Given the description of an element on the screen output the (x, y) to click on. 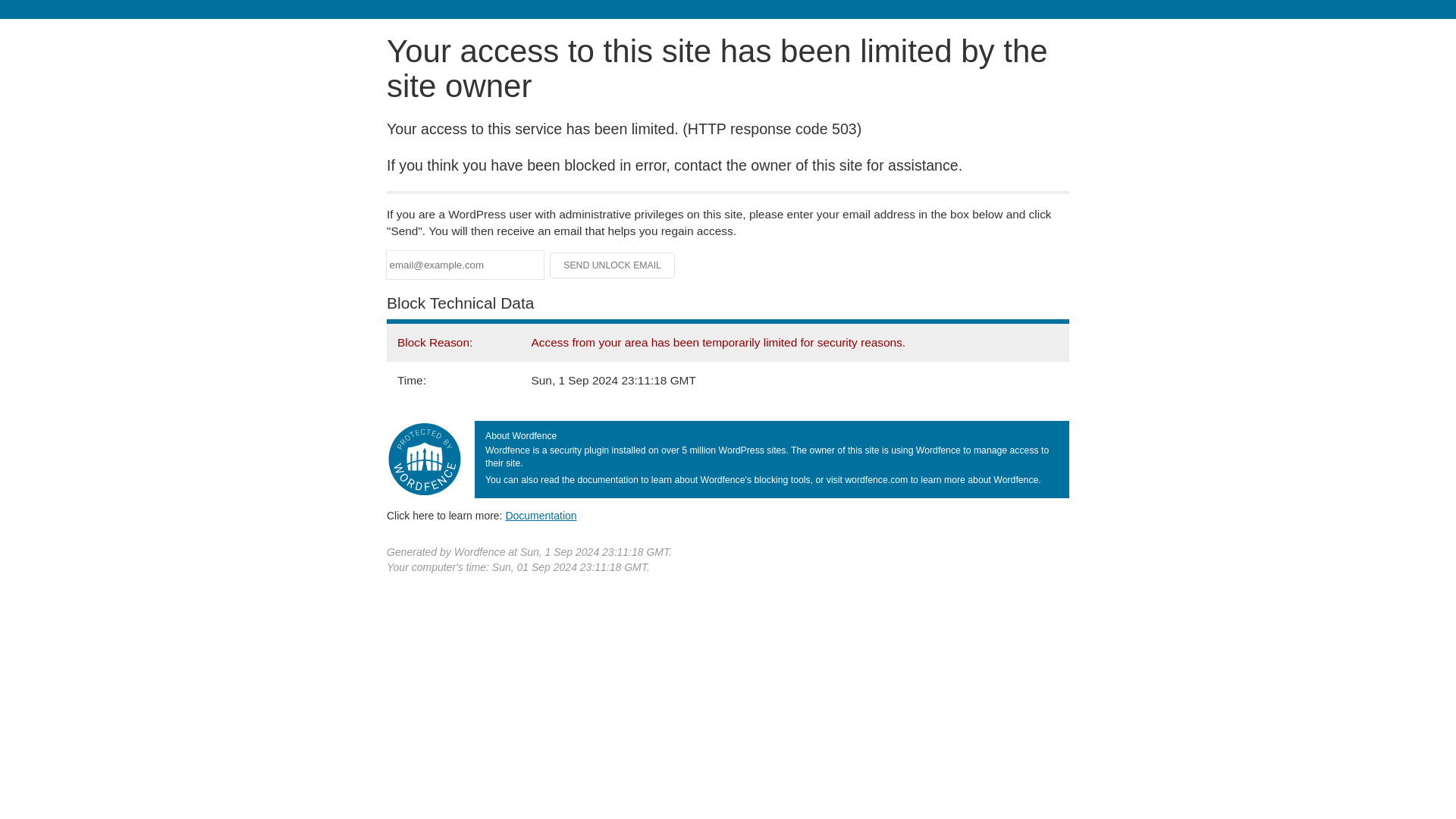
Documentation (540, 515)
Send Unlock Email (612, 265)
Send Unlock Email (612, 265)
